Given the description of an element on the screen output the (x, y) to click on. 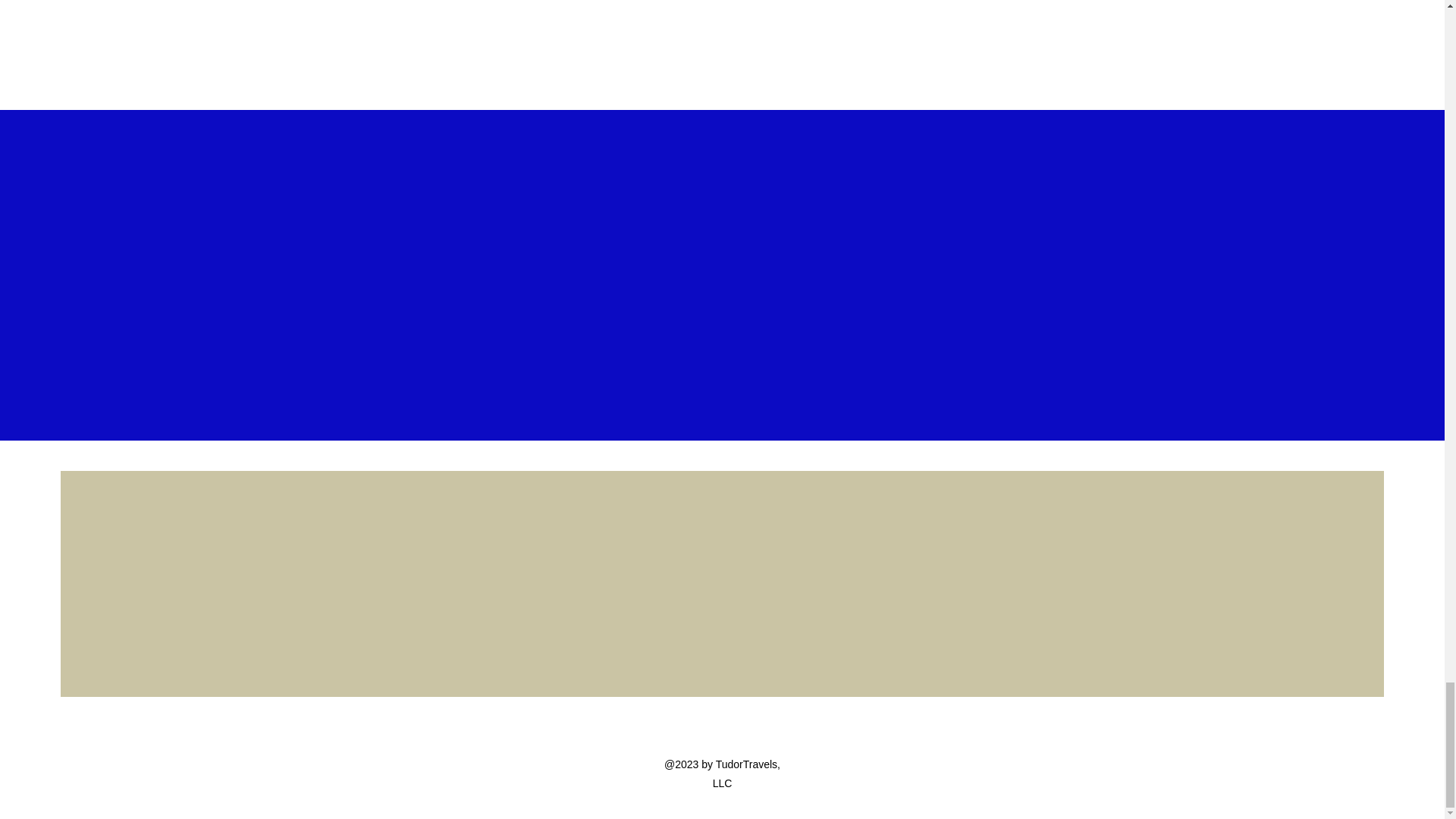
Contact us (721, 571)
Contact us (723, 563)
